Given the description of an element on the screen output the (x, y) to click on. 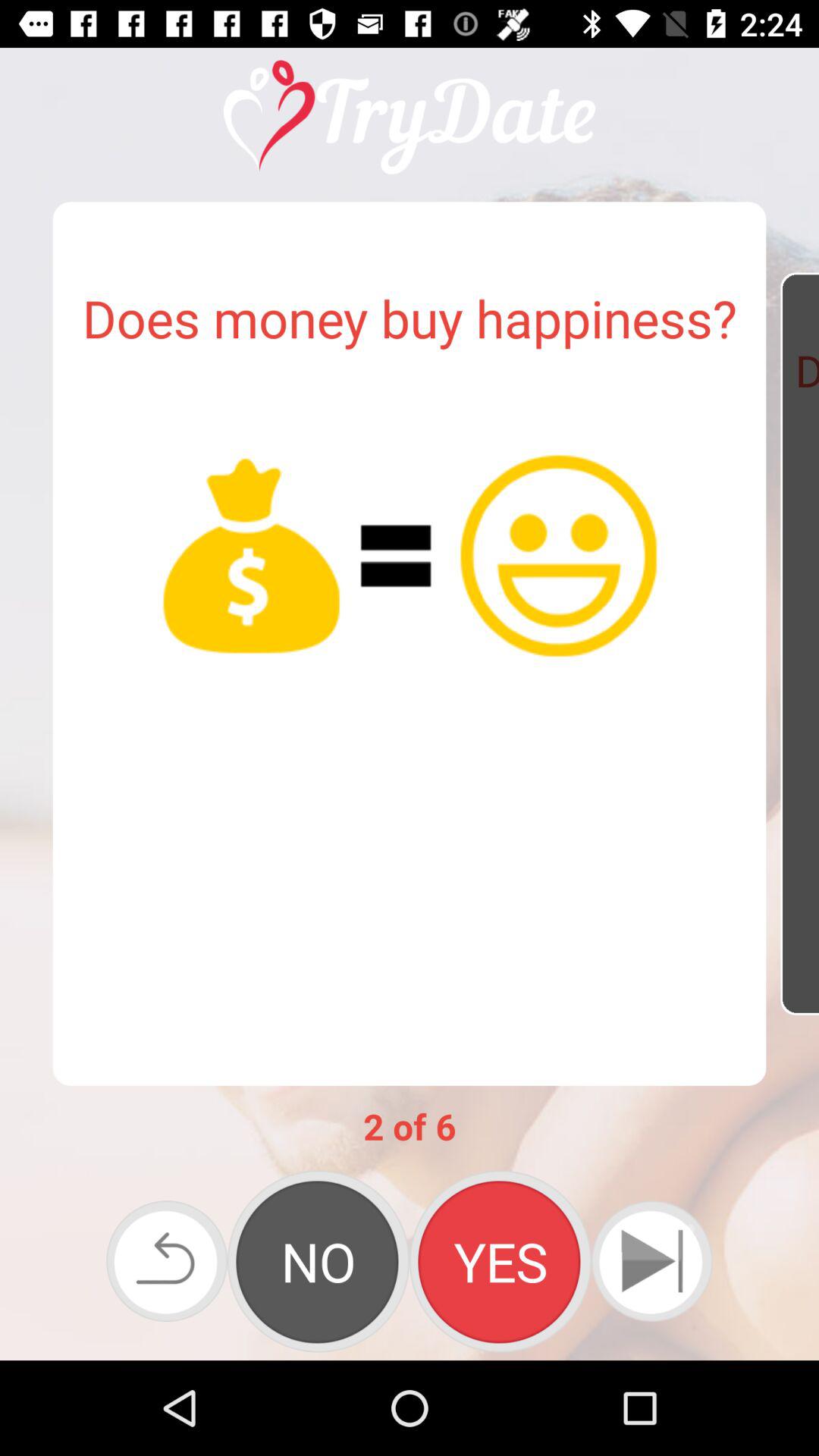
turn off icon at the bottom left corner (166, 1260)
